Given the description of an element on the screen output the (x, y) to click on. 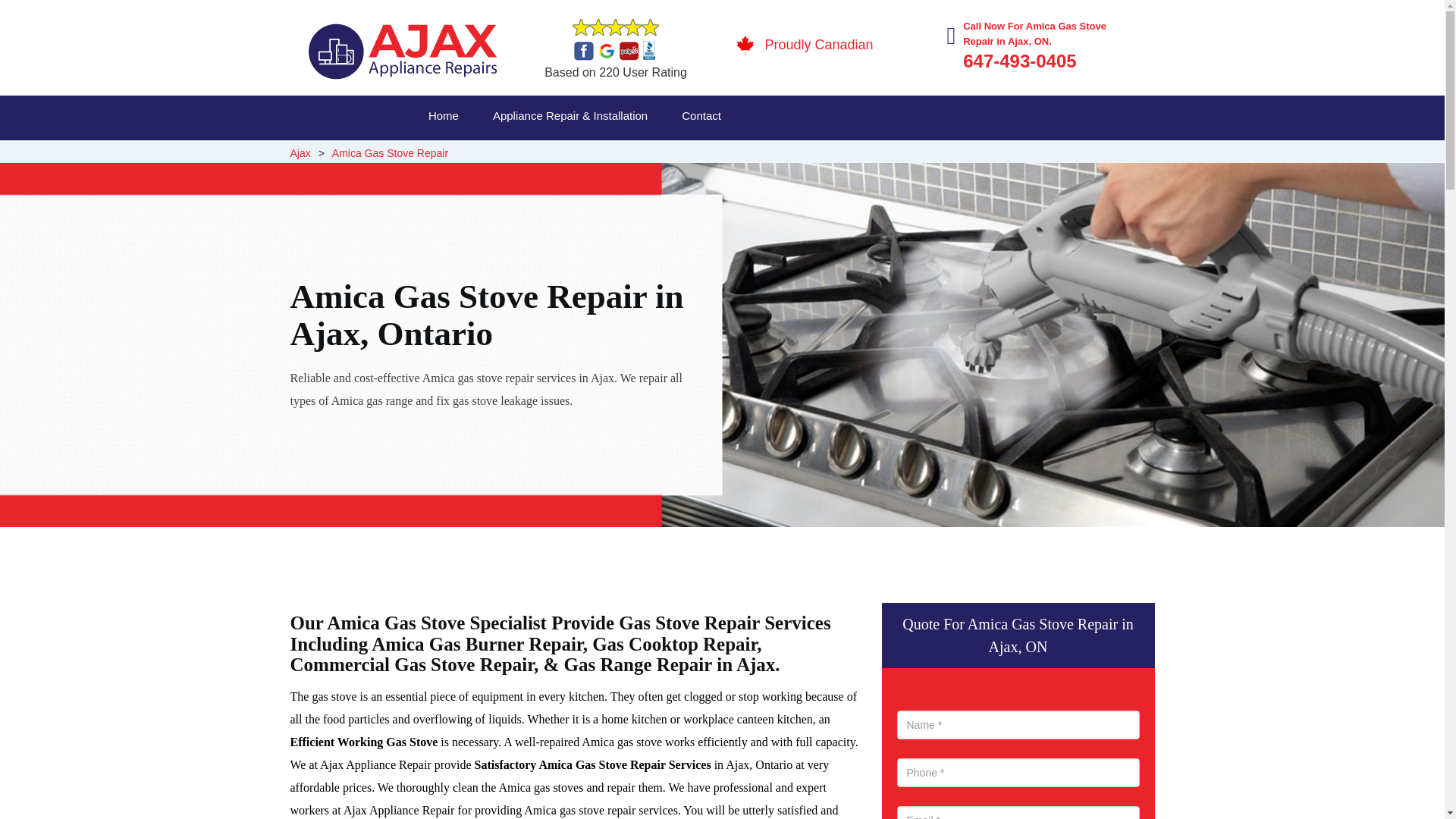
Freezer Repair Element type: text (502, 154)
Ajax Element type: text (299, 153)
Dishwasher Installation Element type: text (739, 154)
Dryer Repair Element type: text (501, 154)
Range Installation Element type: text (966, 154)
Refrigerator Repair Element type: text (751, 154)
Appliances Installation Element type: text (747, 154)
Residential Appliance Repair Element type: text (552, 154)
Refrigerator Installation Element type: text (982, 154)
Microwave Installation Element type: text (744, 154)
Residential Appliance Installation Element type: text (991, 154)
Washing Machine Repair Element type: text (536, 154)
Dryer Installation Element type: text (967, 154)
Microwave Repair Element type: text (745, 154)
Kitchen Appliance Installation Element type: text (983, 154)
Dishwasher Repair Element type: text (504, 154)
Stove Installation Element type: text (952, 154)
647-493-0405 Element type: text (1019, 60)
Commercial Appliances Repair Element type: text (539, 154)
Freezer Installation Element type: text (966, 154)
Appliance Repair & Installation Element type: text (586, 117)
Kitchen Appliances Repair Element type: text (534, 154)
Stove Repair Element type: text (511, 154)
Gas Stove Repair Element type: text (739, 154)
Oven Elements Replacement Element type: text (538, 154)
Oven Repair Element type: text (728, 154)
Amica Gas Stove Repair Element type: text (390, 153)
Home Element type: text (460, 117)
Oven Element Installation Element type: text (978, 154)
Commercial Appliances Installation Element type: text (782, 154)
Oven Installation Element type: text (956, 154)
Range Repair Element type: text (509, 154)
Washing Machine Installation Element type: text (760, 154)
Gas Stove Installation Element type: text (738, 154)
Contact Element type: text (718, 117)
